Given the description of an element on the screen output the (x, y) to click on. 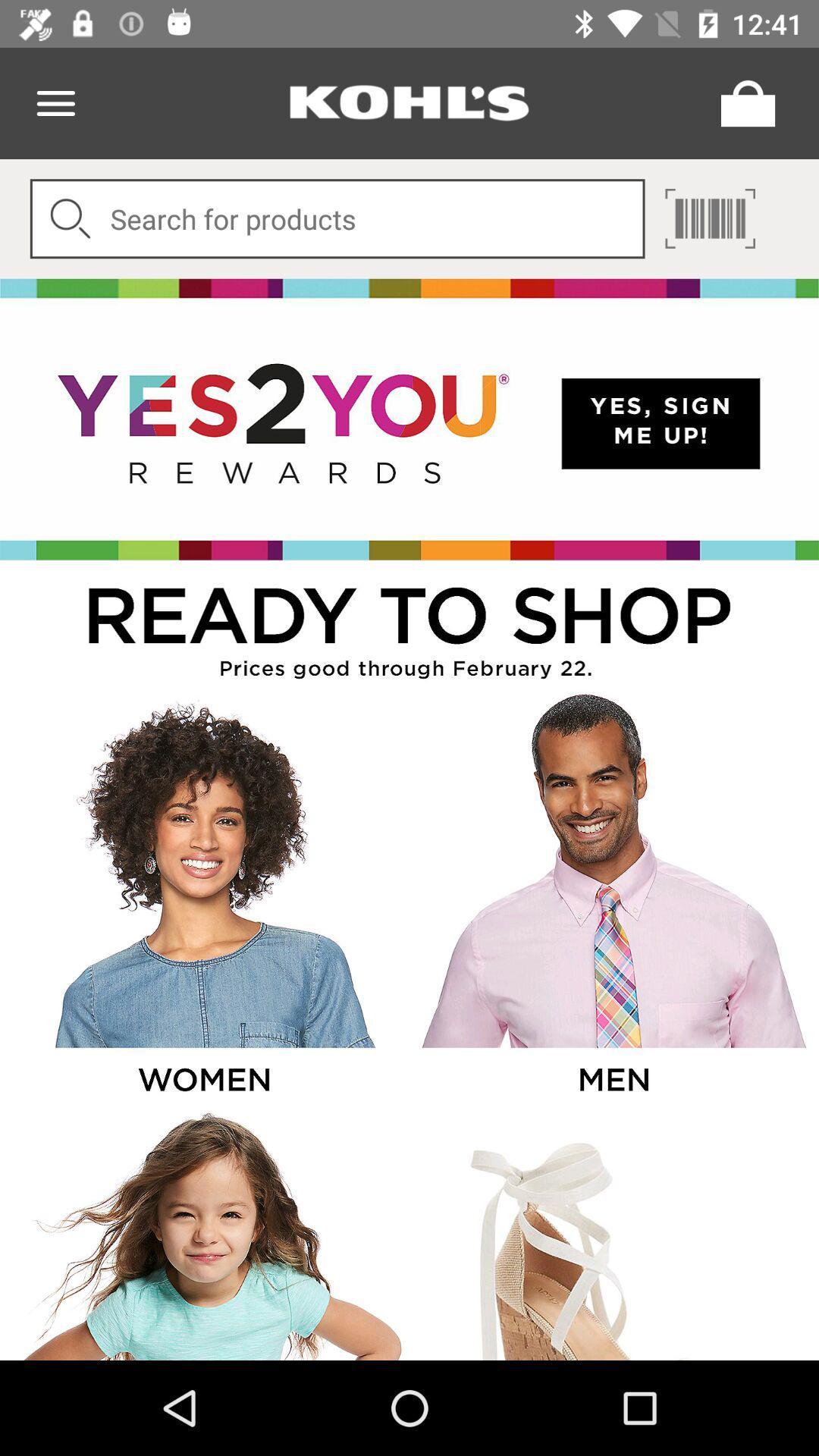
sign up in kohl 's button (409, 419)
